Given the description of an element on the screen output the (x, y) to click on. 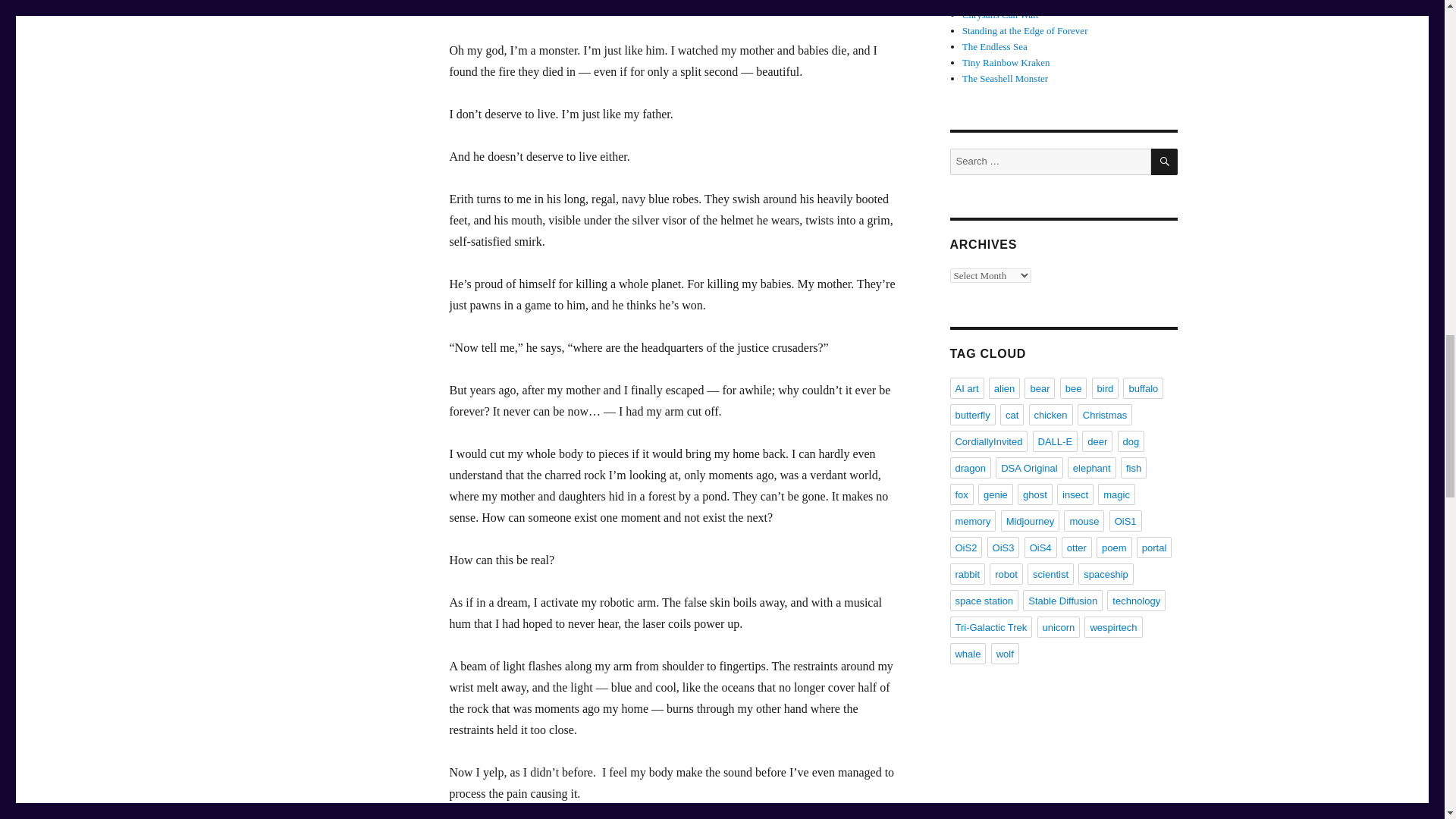
Standing at the Edge of Forever (1024, 30)
Tiny Rainbow Kraken (1005, 61)
Chrysalis Can Wait (1000, 14)
Search for: (1049, 161)
The Endless Sea (994, 46)
